Given the description of an element on the screen output the (x, y) to click on. 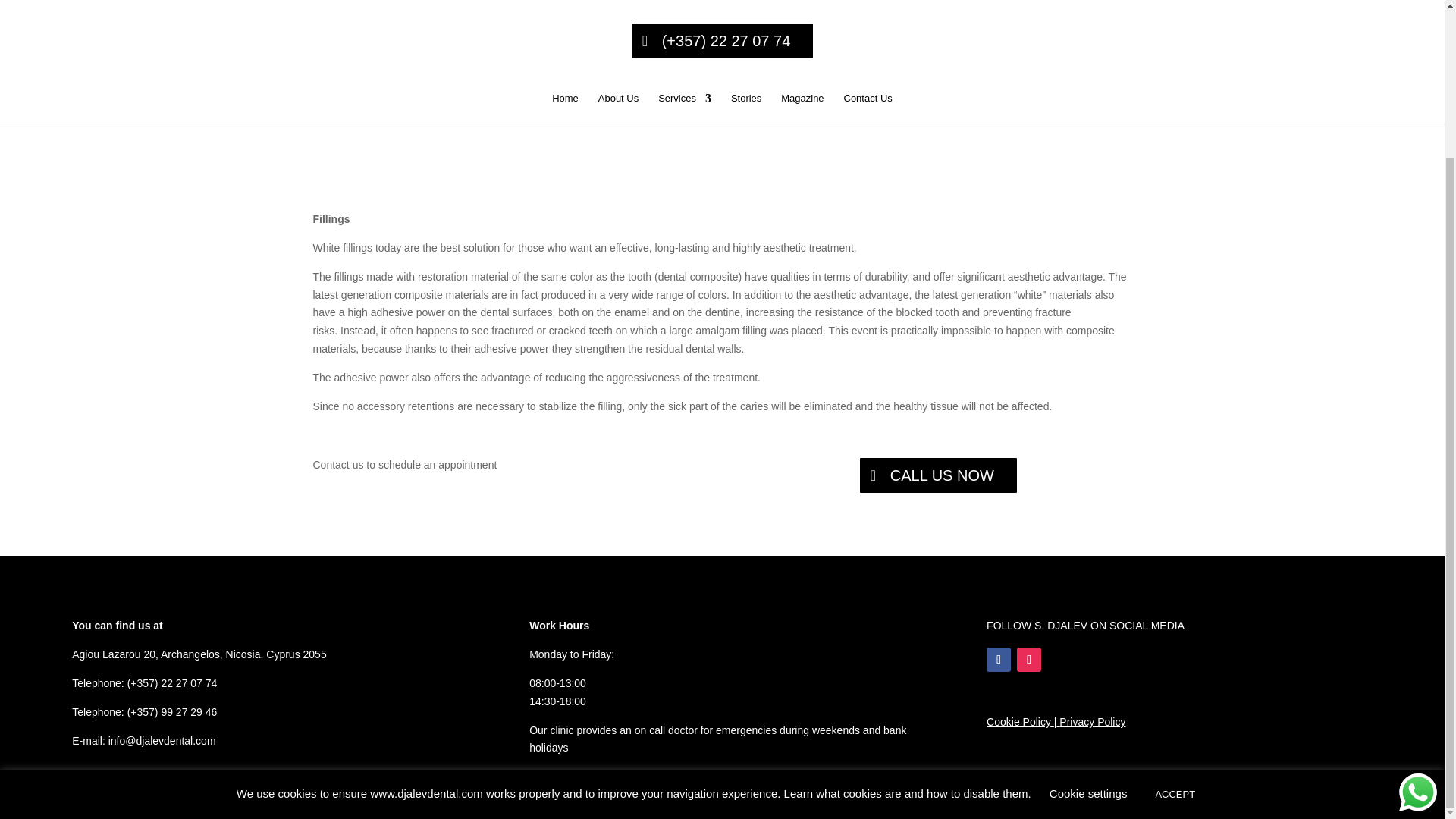
Services (684, 108)
Follow on Instagram (1028, 659)
Magazine (802, 108)
Contact Us (867, 108)
WhatsApp us (1418, 607)
Stories (745, 108)
About Us (618, 108)
Follow on Facebook (998, 659)
